Given the description of an element on the screen output the (x, y) to click on. 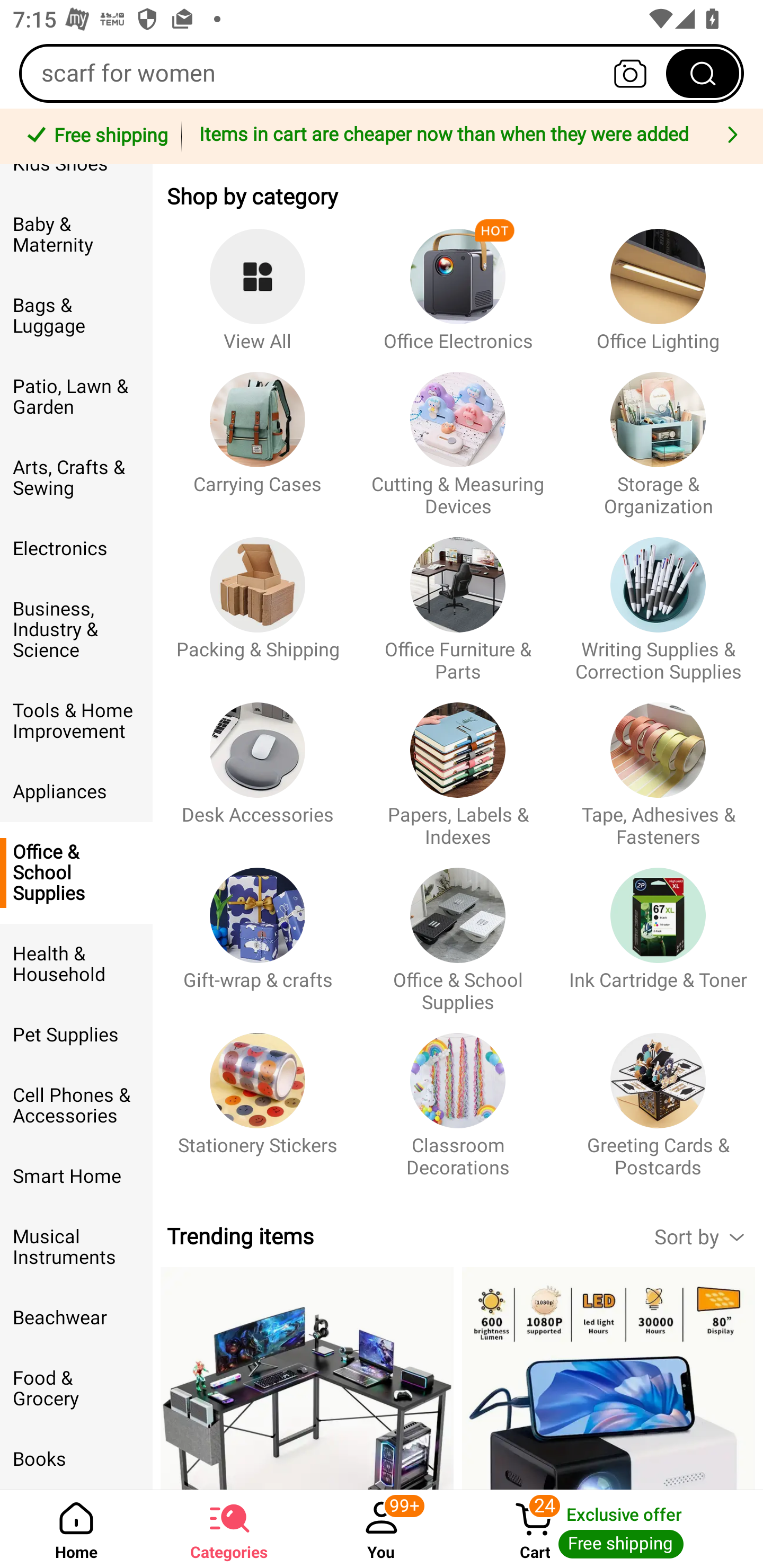
scarf for women (381, 73)
 Free shipping (93, 136)
Baby & Maternity (76, 234)
View All (257, 281)
Office Electronics (457, 281)
Office Lighting (657, 281)
Bags & Luggage (76, 315)
Carrying Cases (257, 434)
Cutting & Measuring Devices (457, 434)
Storage & Organization (657, 434)
Patio, Lawn & Garden (76, 396)
Arts, Crafts & Sewing (76, 478)
Packing & Shipping (257, 600)
Office Furniture & Parts (457, 600)
Writing Supplies & Correction Supplies (657, 600)
Electronics (76, 548)
Business, Industry & Science (76, 629)
Tools & Home Improvement (76, 721)
Desk Accessories (257, 765)
Papers, Labels & Indexes (457, 765)
Tape, Adhesives & Fasteners (657, 765)
Appliances (76, 791)
Office & School Supplies (76, 872)
Gift-wrap & crafts (257, 931)
Office & School Supplies (457, 931)
Ink Cartridge & Toner (657, 931)
Health & Household (76, 964)
Pet Supplies (76, 1034)
Stationery Stickers (257, 1096)
Classroom Decorations (457, 1096)
Greeting Cards & Postcards (657, 1096)
Cell Phones & Accessories (76, 1105)
Smart Home (76, 1176)
Sort by (708, 1235)
Musical Instruments (76, 1247)
Beachwear (76, 1317)
Food & Grocery (76, 1388)
Books (76, 1458)
Home (76, 1528)
Categories (228, 1528)
You ‎99+‎ You (381, 1528)
Cart 24 Cart Exclusive offer (610, 1528)
